Given the description of an element on the screen output the (x, y) to click on. 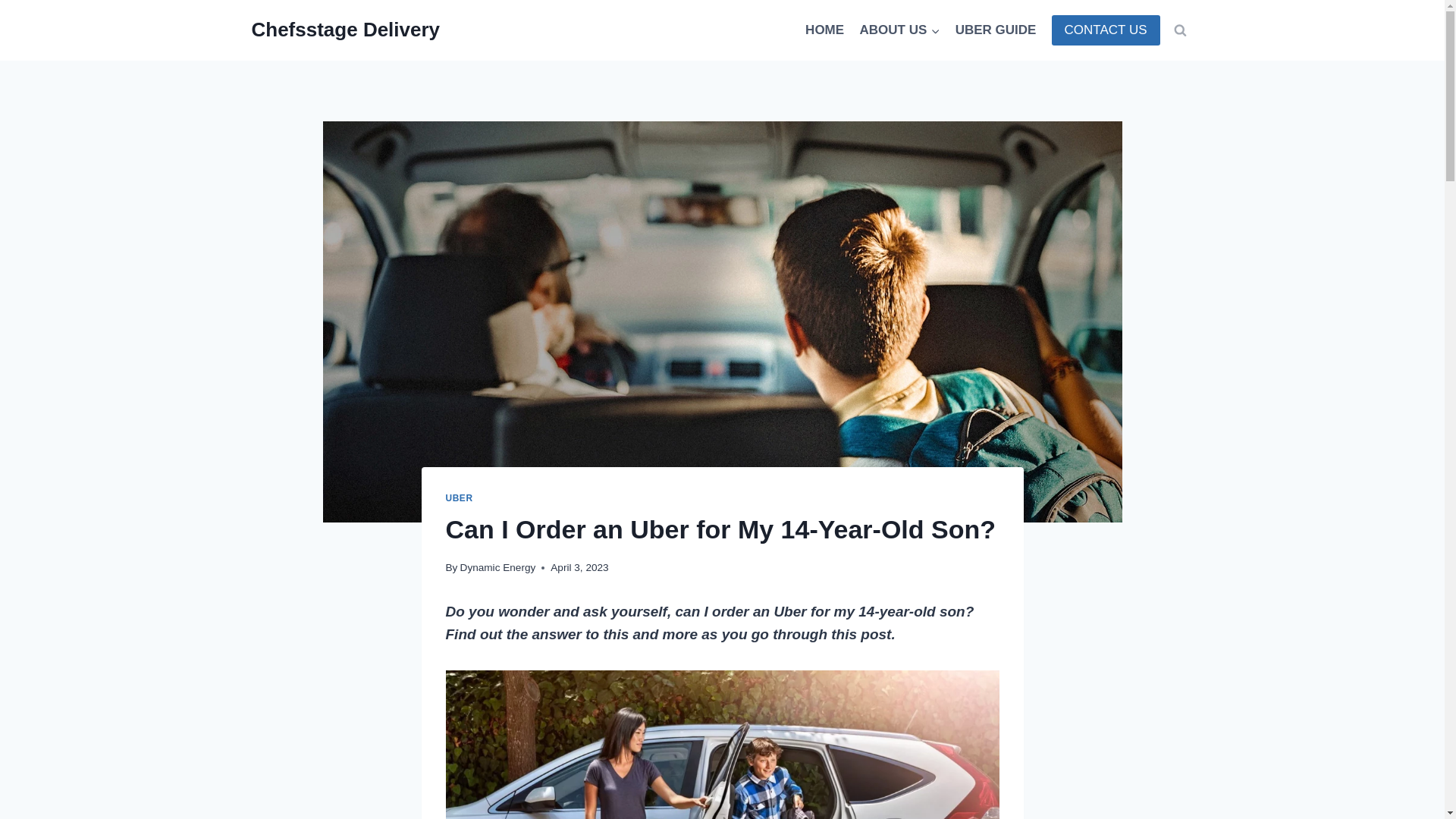
UBER (459, 498)
Dynamic Energy (497, 567)
Chefsstage Delivery (346, 29)
HOME (824, 30)
ABOUT US (899, 30)
CONTACT US (1105, 30)
UBER GUIDE (995, 30)
